Given the description of an element on the screen output the (x, y) to click on. 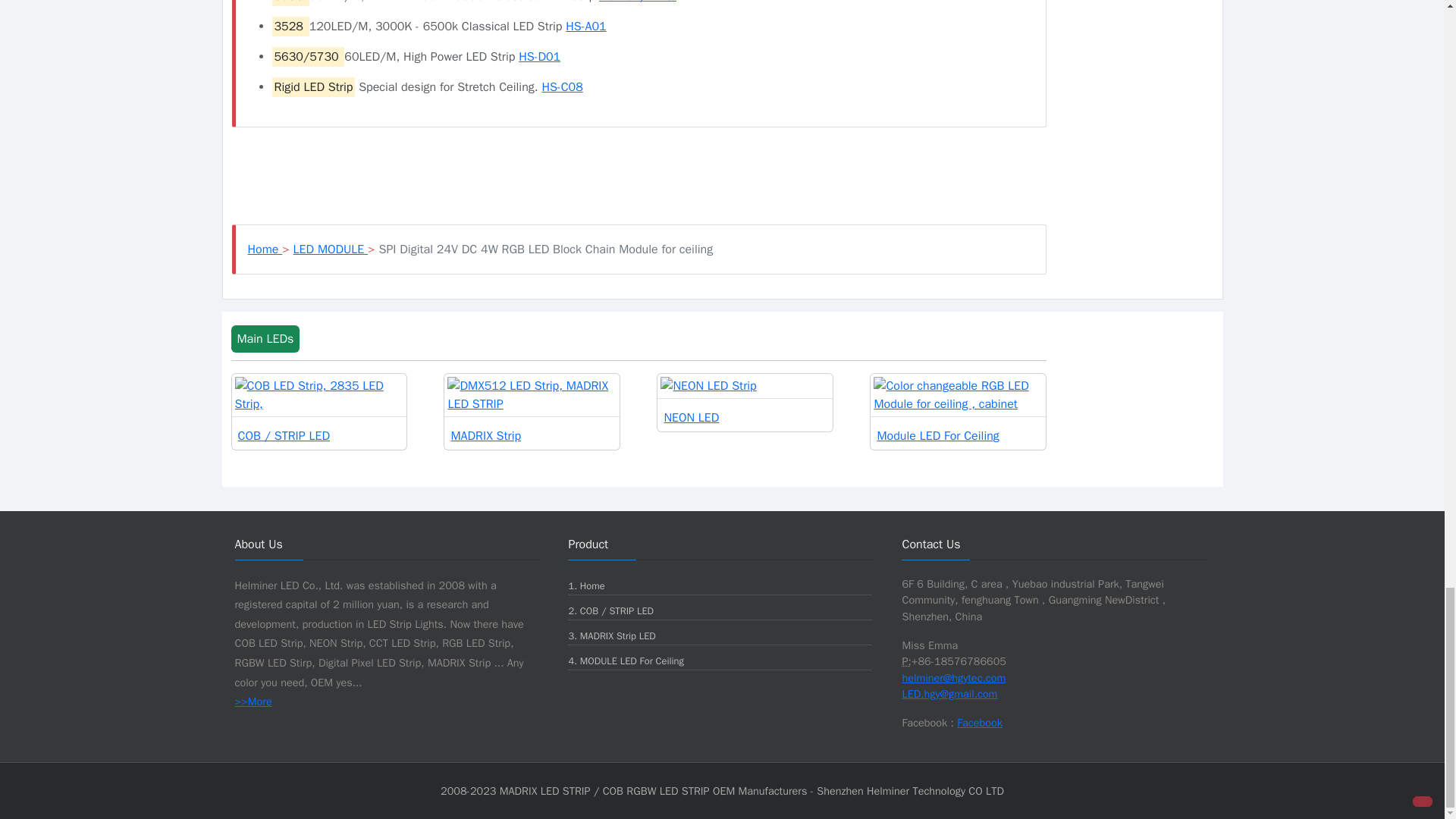
NEON LED (745, 402)
3. MADRIX Strip LED (611, 635)
 Color changeable LED Module for Ceiling light    (957, 411)
4. MODULE LED For Ceiling (624, 661)
 Colorful LED Strip, DMX512 LED Strip, MADRIX LED Strip     (532, 411)
HS-C08 (561, 87)
Module LED For Ceiling (957, 411)
Facebook (979, 722)
LED MODULE (331, 249)
Home (264, 249)
